Given the description of an element on the screen output the (x, y) to click on. 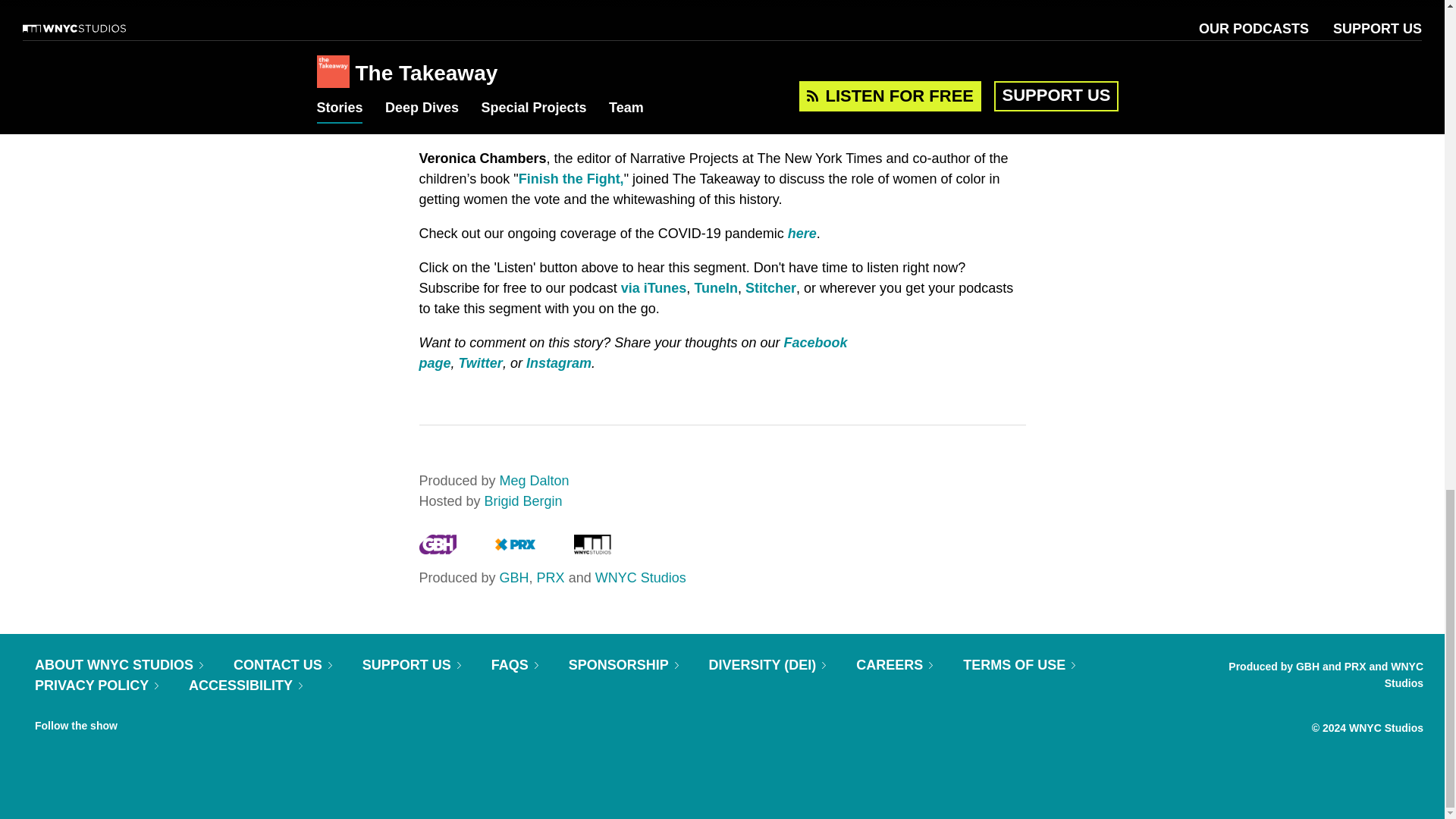
WNYC Studios (591, 549)
Support Us (411, 664)
Careers (894, 664)
FAQs (515, 664)
PRX (515, 549)
GBH (437, 549)
Contact Us (281, 664)
About WNYC Studios (118, 664)
Sponsorship (623, 664)
